Given the description of an element on the screen output the (x, y) to click on. 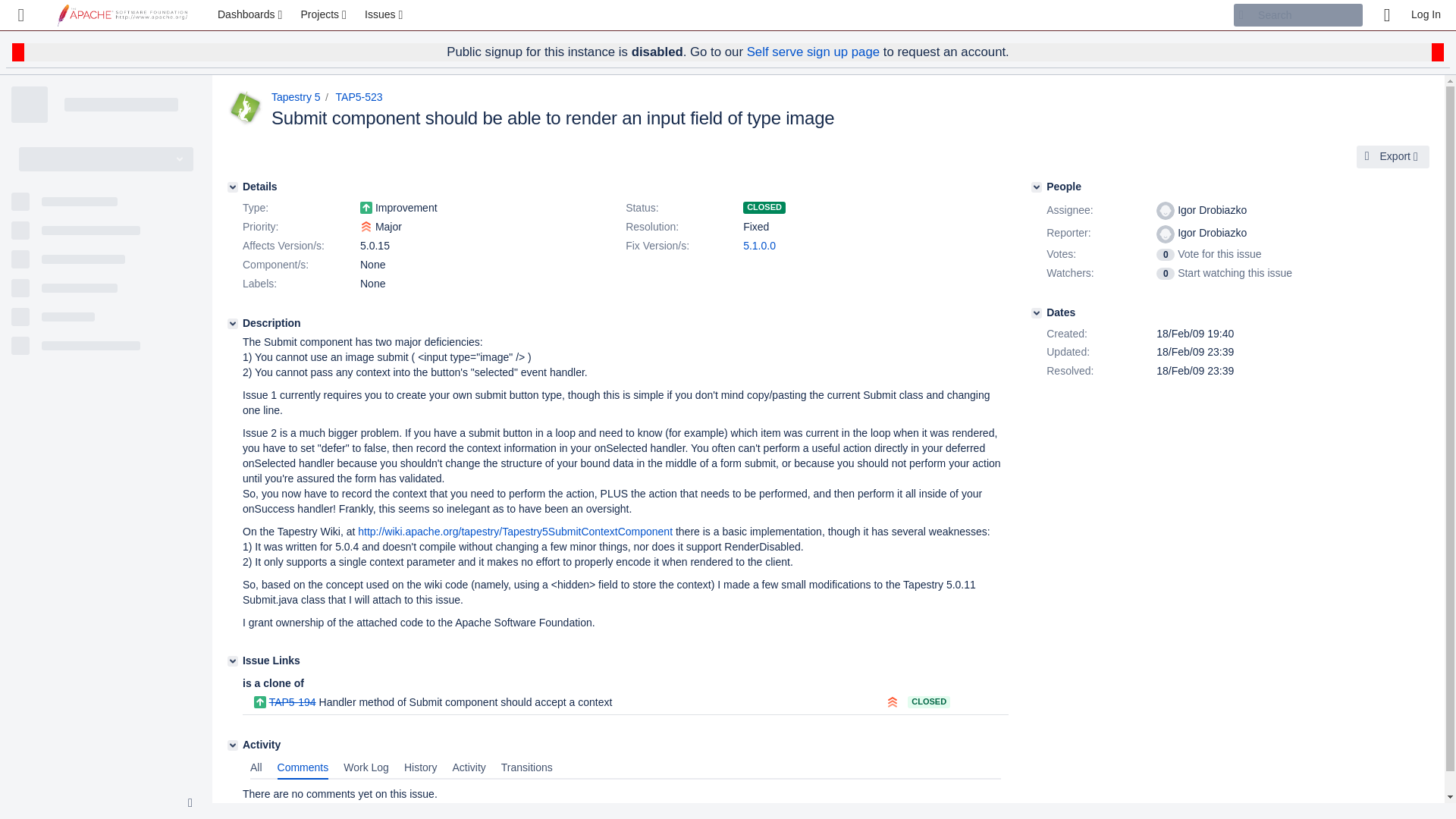
TAP5-194 (292, 702)
Search for issues and view recent issues (384, 15)
Linked Applications (20, 15)
View and manage your dashboards (251, 15)
Type (299, 208)
Export (1392, 156)
5.1.0.0 (759, 245)
Dashboards (251, 15)
TAP5-523 (359, 96)
Projects (324, 15)
Tapestry 5 (295, 96)
Log In (1425, 15)
Help (1386, 15)
Issues (384, 15)
View recent projects and browse a list of projects (324, 15)
